Given the description of an element on the screen output the (x, y) to click on. 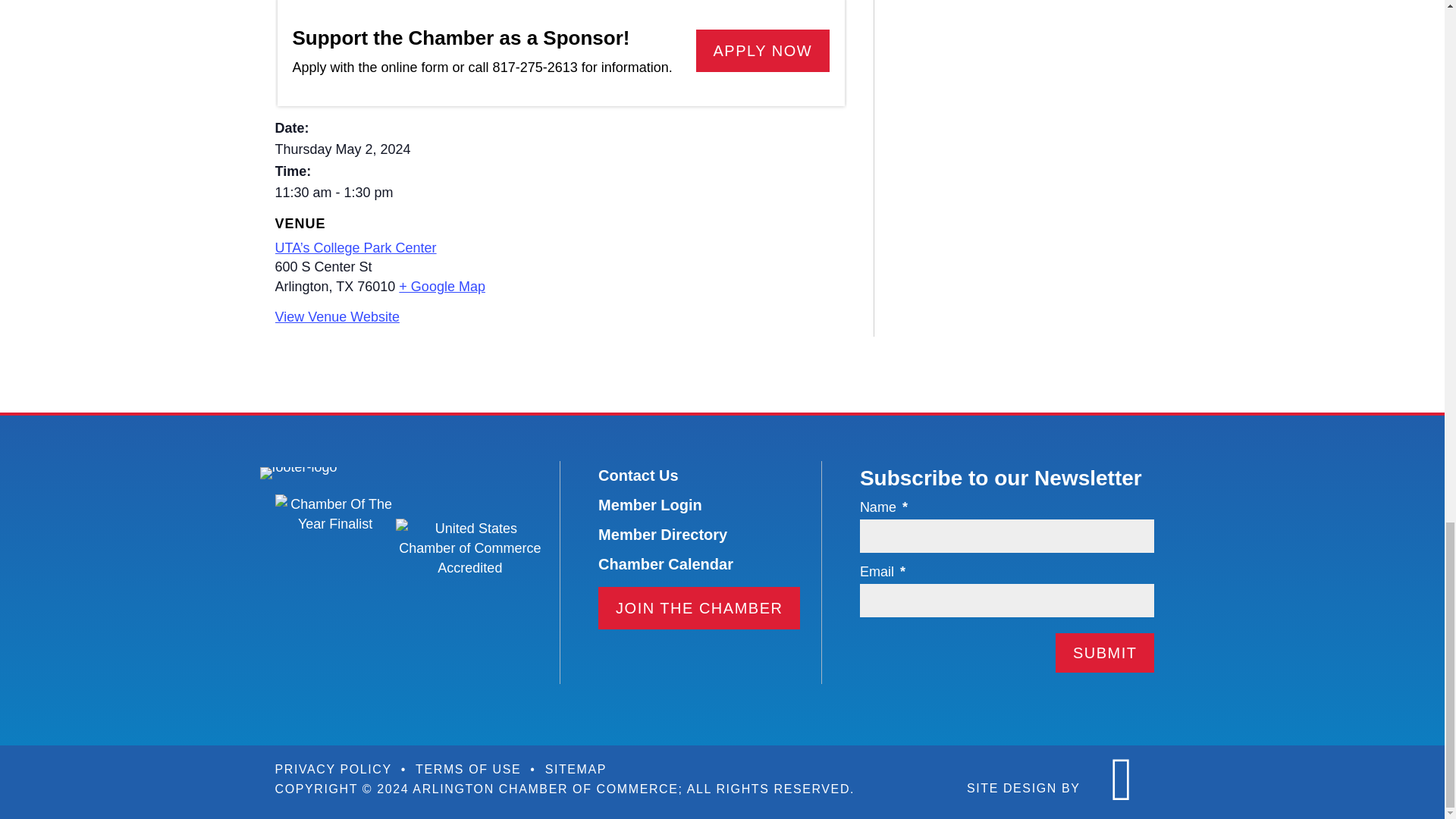
footer-logo1 (297, 472)
Click to view a Google Map (441, 286)
2024-05-02 (379, 192)
Texas (344, 286)
2024-05-02 (342, 149)
Submit (1104, 652)
